Given the description of an element on the screen output the (x, y) to click on. 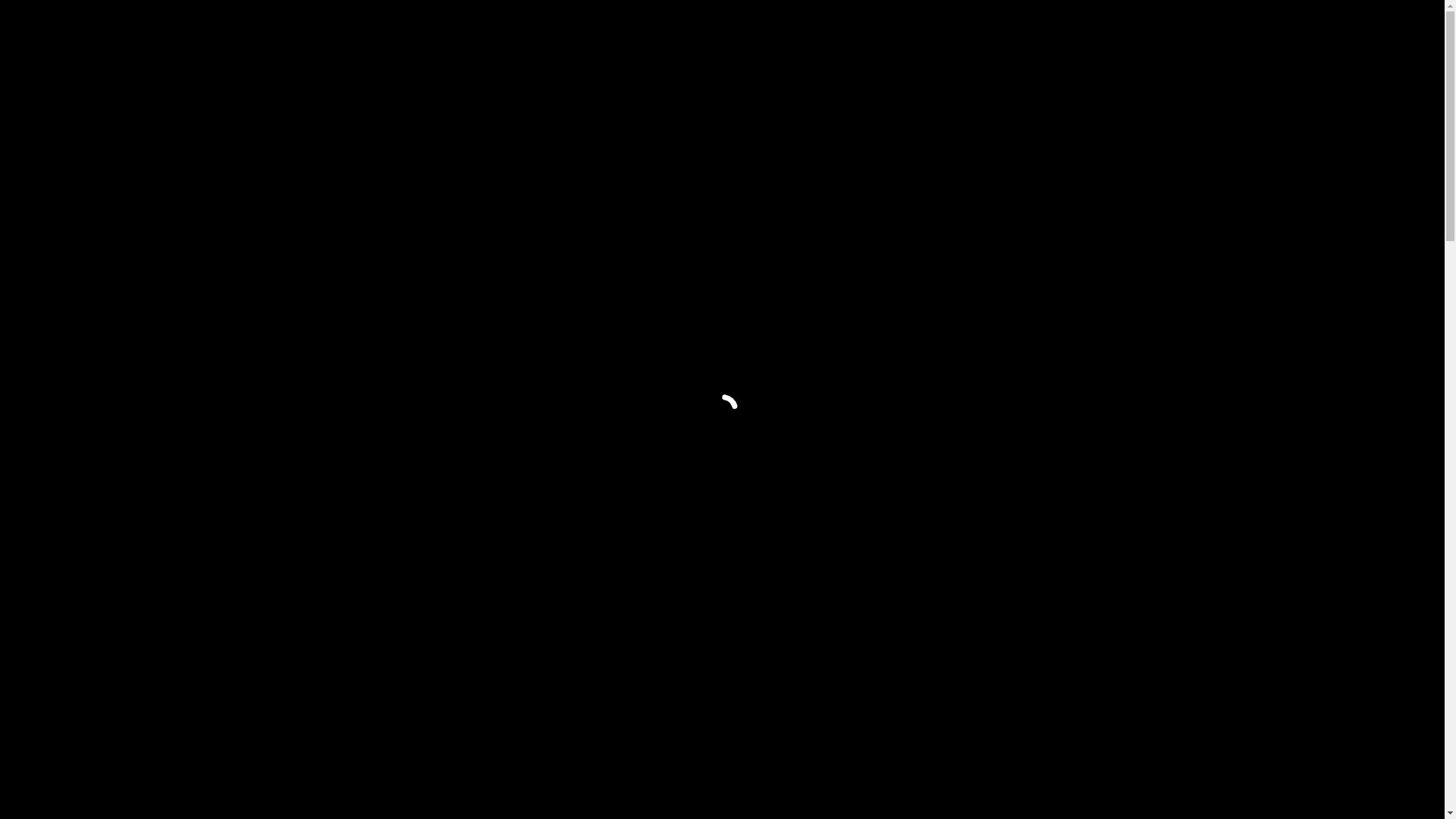
Over ons Element type: text (986, 35)
Praktisch Element type: text (1045, 35)
Programma Element type: text (921, 35)
de zachte weg Element type: text (998, 617)
Inschrijven Element type: text (1109, 35)
Home Element type: text (864, 35)
